Given the description of an element on the screen output the (x, y) to click on. 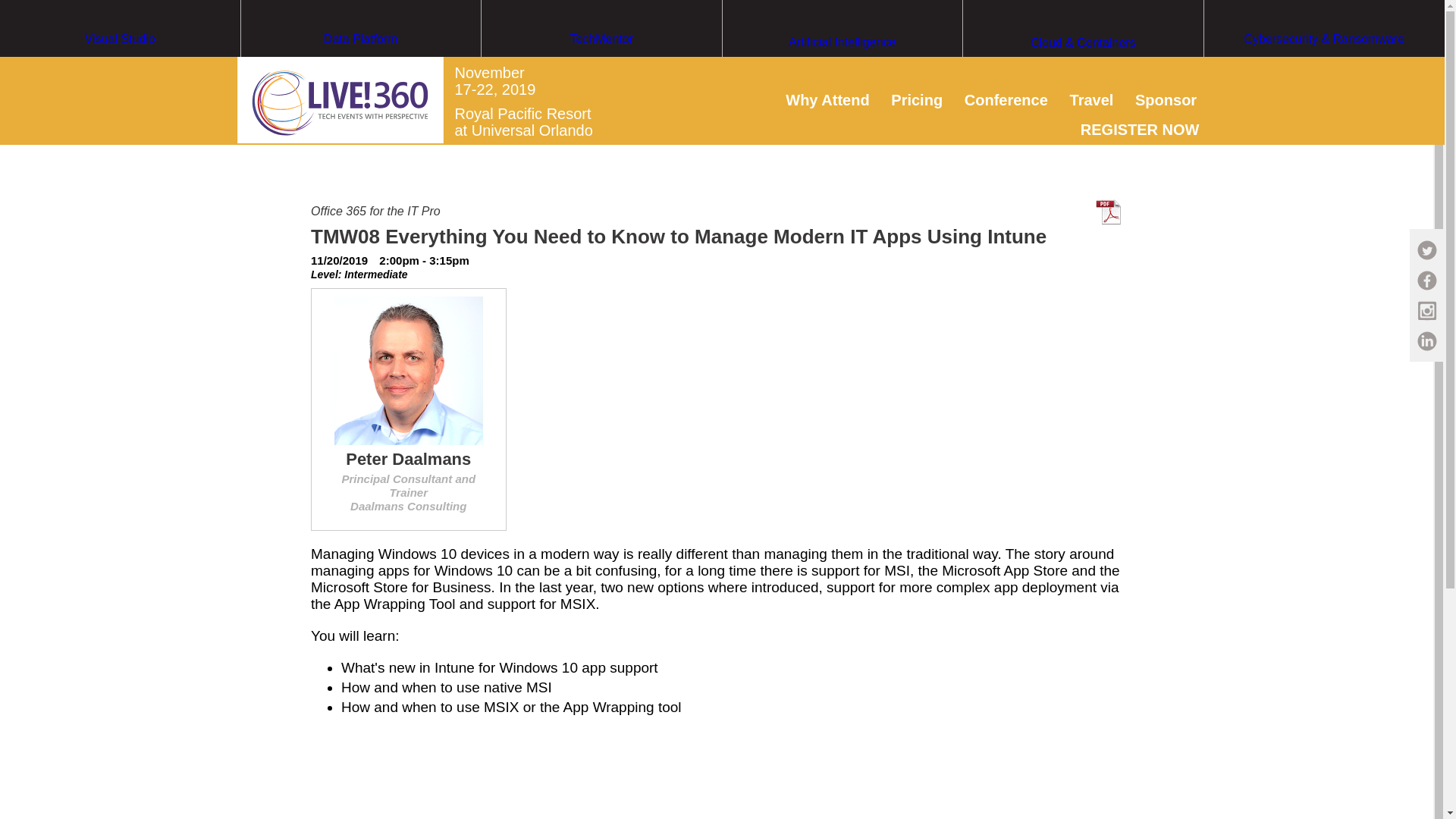
TechMentor (601, 67)
Conference (1005, 99)
Pricing (916, 99)
Visual Studio (120, 67)
Data Platform (361, 67)
Why Attend (827, 99)
Artificial Intelligence (842, 70)
